Given the description of an element on the screen output the (x, y) to click on. 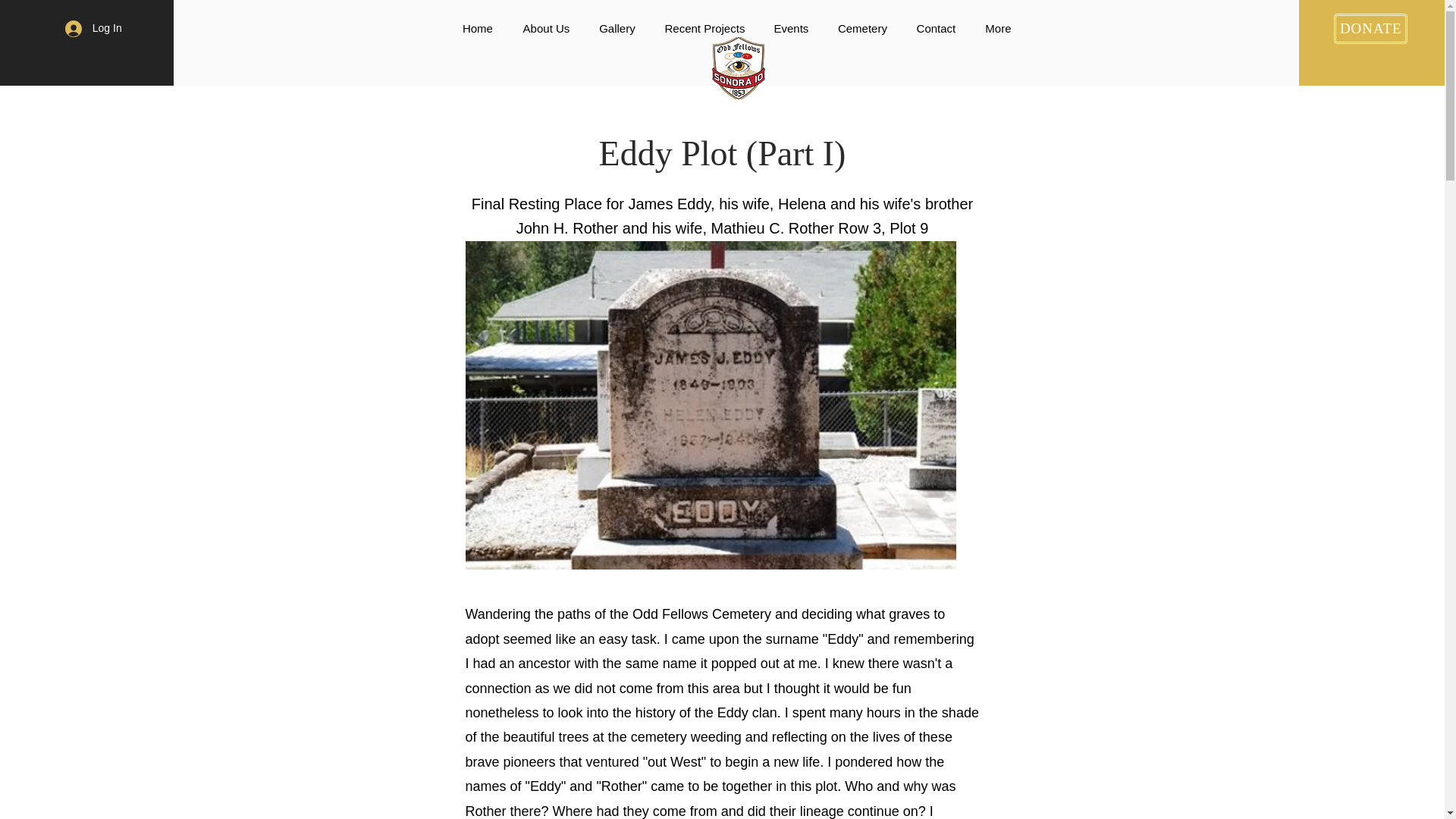
Log In (93, 28)
Recent Projects (703, 28)
DONATE (1370, 28)
Cemetery (861, 28)
About Us (545, 28)
Events (790, 28)
Gallery (616, 28)
Home (477, 28)
Contact (935, 28)
